Given the description of an element on the screen output the (x, y) to click on. 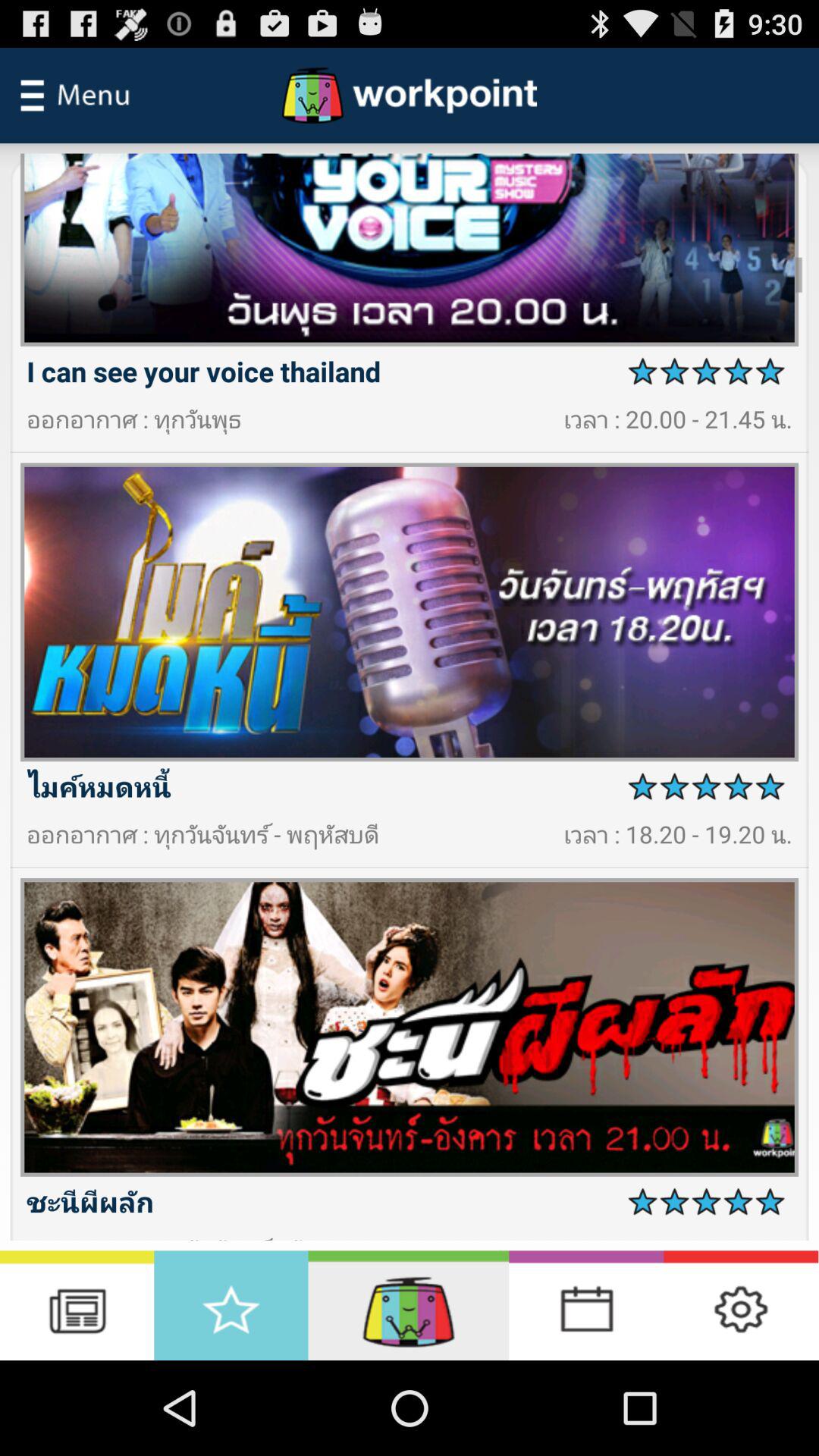
open calendar (586, 1305)
